Given the description of an element on the screen output the (x, y) to click on. 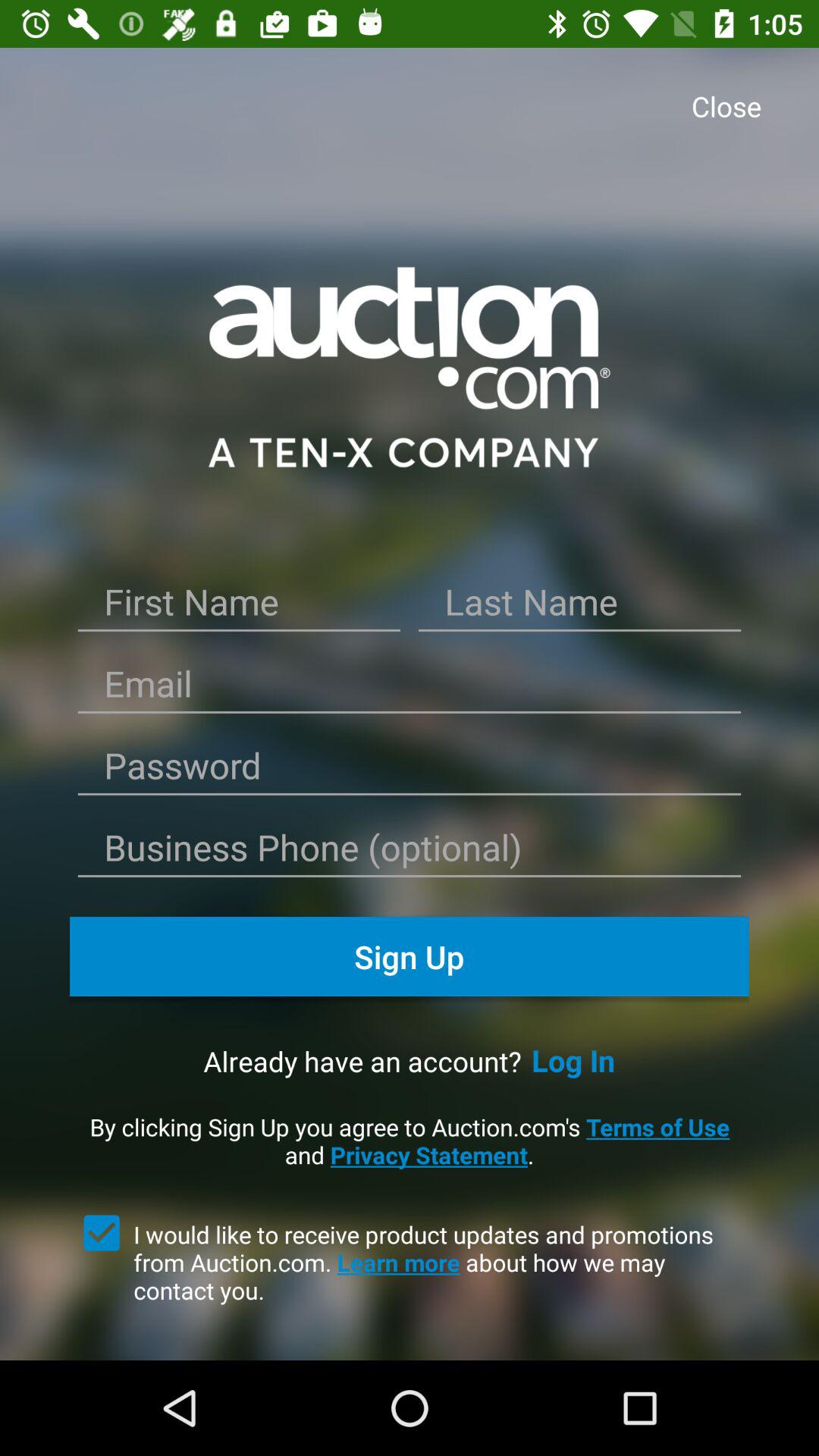
business text bar (409, 852)
